Given the description of an element on the screen output the (x, y) to click on. 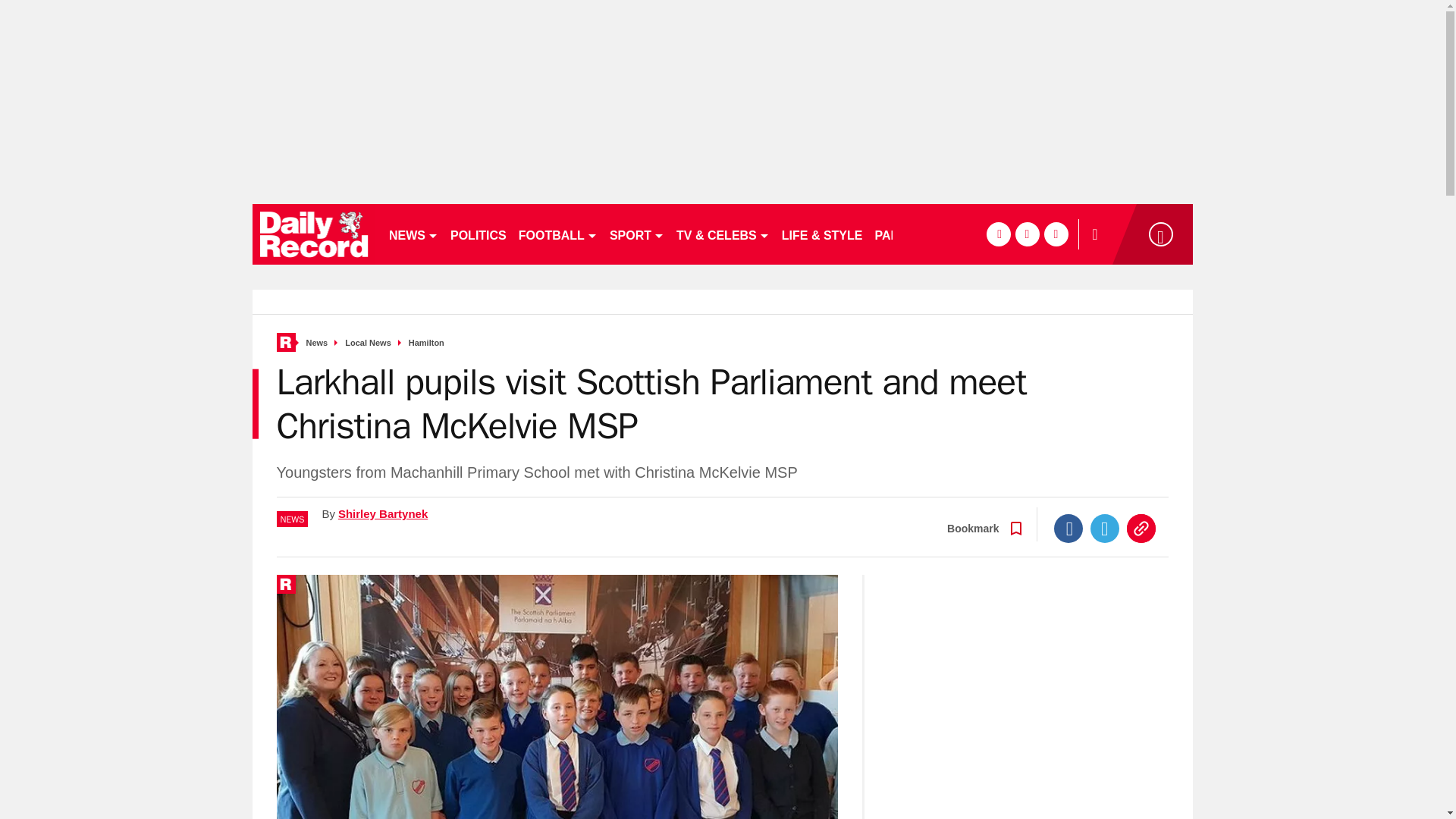
FOOTBALL (558, 233)
NEWS (413, 233)
twitter (1026, 233)
POLITICS (478, 233)
instagram (1055, 233)
Twitter (1104, 528)
dailyrecord (313, 233)
SPORT (636, 233)
Facebook (1068, 528)
facebook (997, 233)
